Given the description of an element on the screen output the (x, y) to click on. 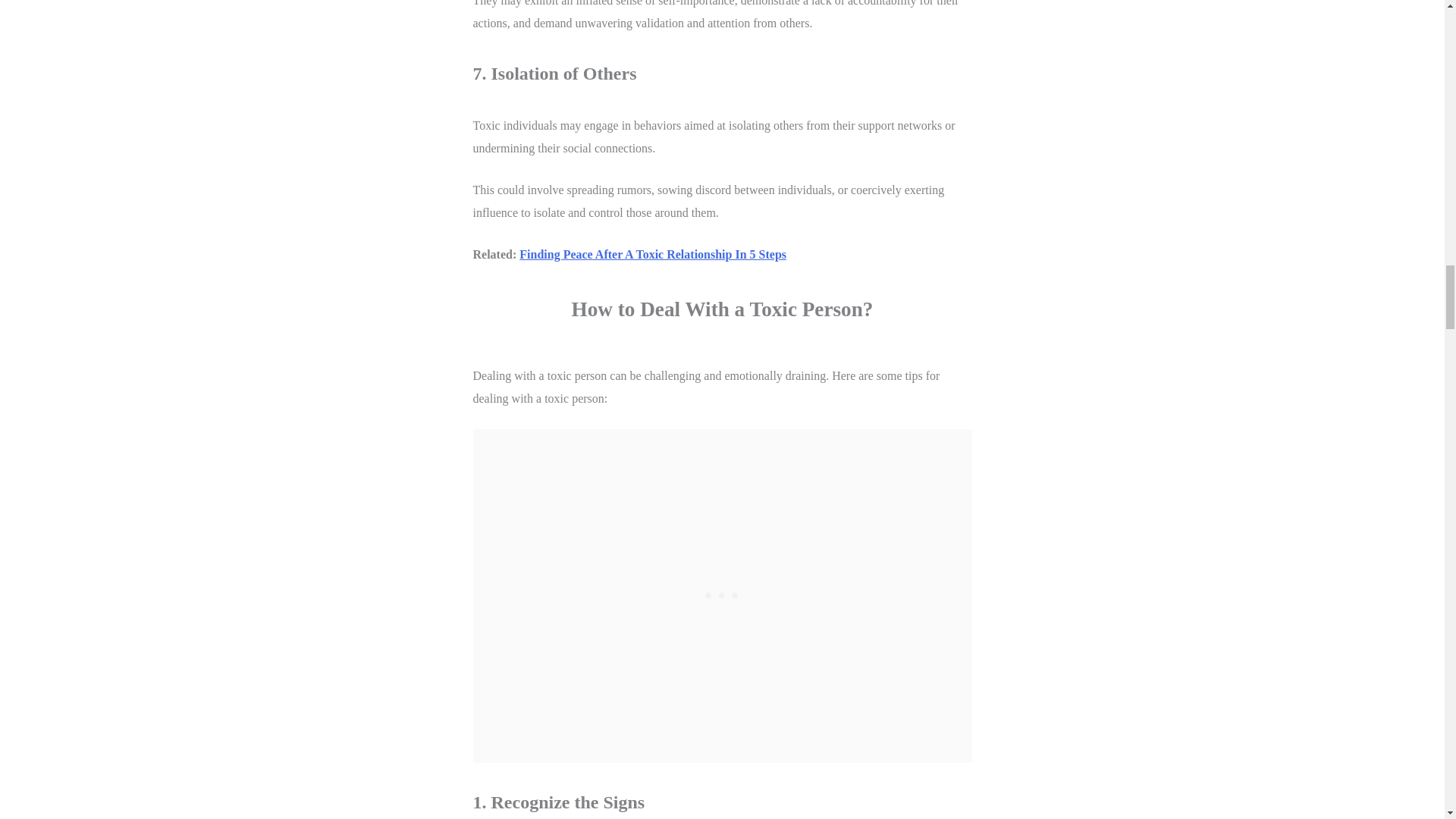
Finding Peace After A Toxic Relationship In 5 Steps (652, 254)
